Given the description of an element on the screen output the (x, y) to click on. 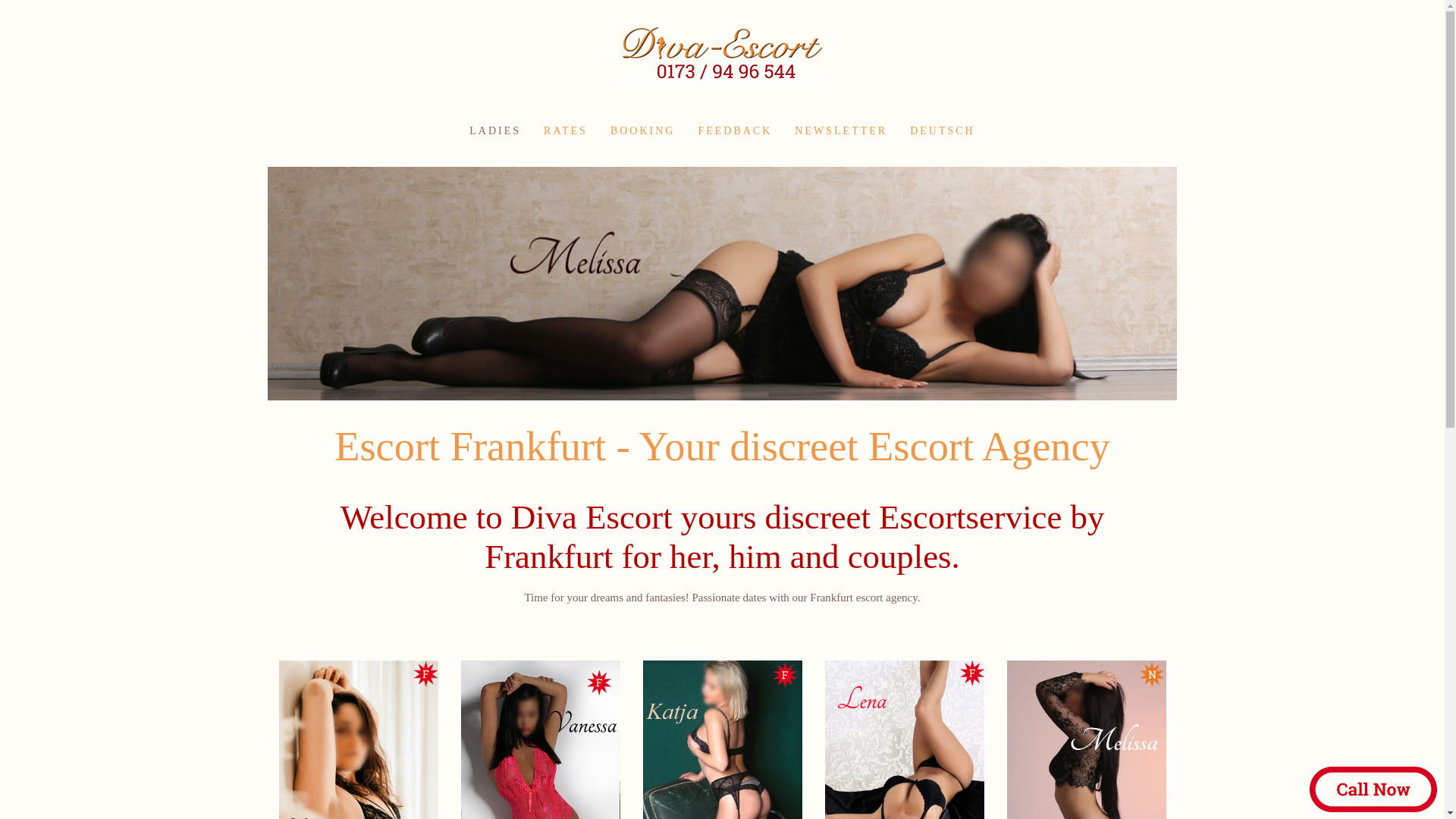
RATES (565, 131)
Booking (642, 131)
DEUTSCH (942, 131)
Newsletter (840, 131)
Feedback online (734, 131)
deutsche Version (942, 131)
FEEDBACK (734, 131)
BOOKING (642, 131)
NEWSLETTER (840, 131)
Rates (565, 131)
